Given the description of an element on the screen output the (x, y) to click on. 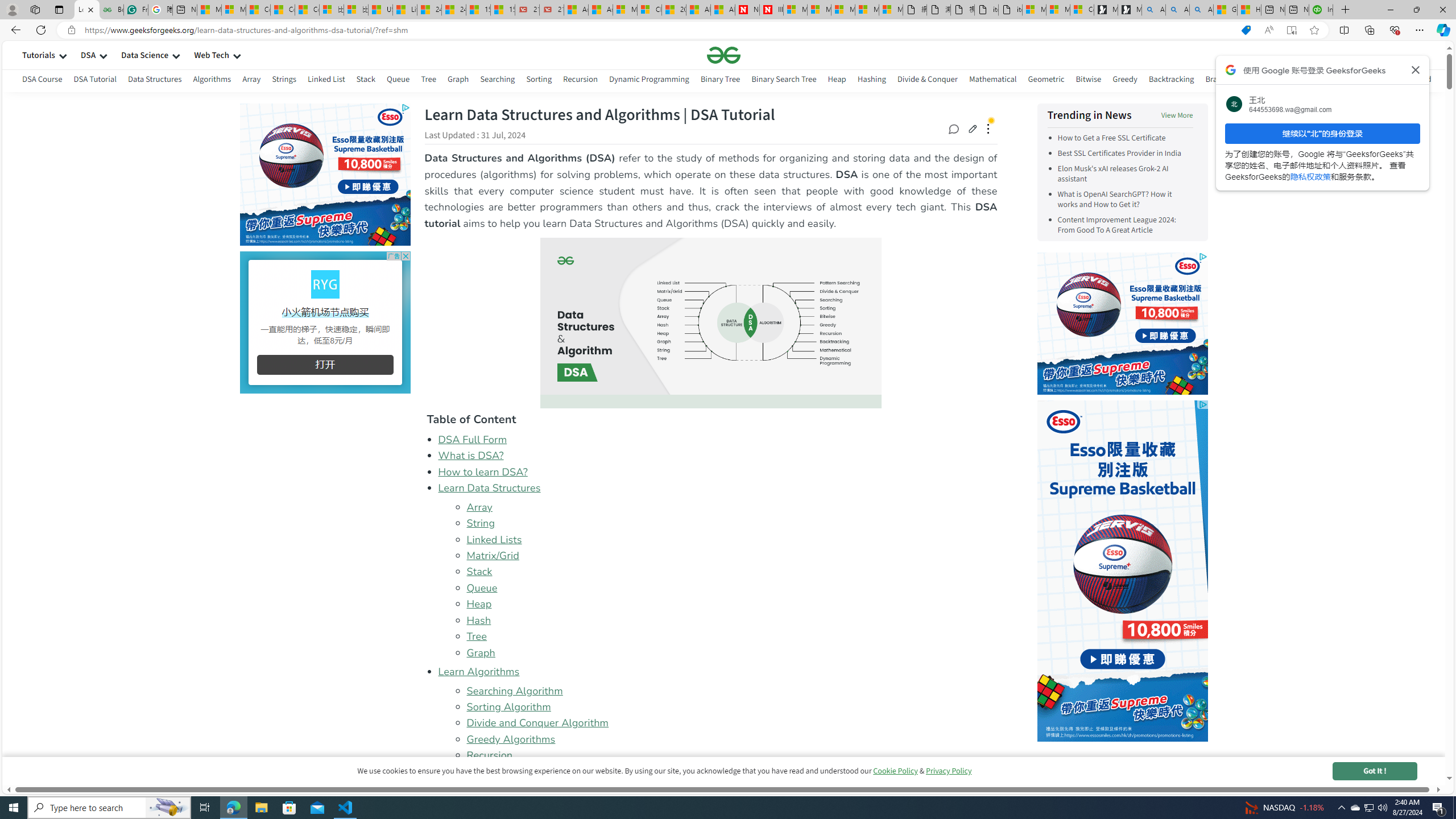
Bitwise (1089, 79)
Logo (723, 54)
Pattern Searching (1344, 79)
Hash (731, 619)
Binary Tree (719, 80)
Sorting (538, 79)
Linked Lists (731, 539)
DSA Tutorial (94, 79)
Tree (731, 636)
